Given the description of an element on the screen output the (x, y) to click on. 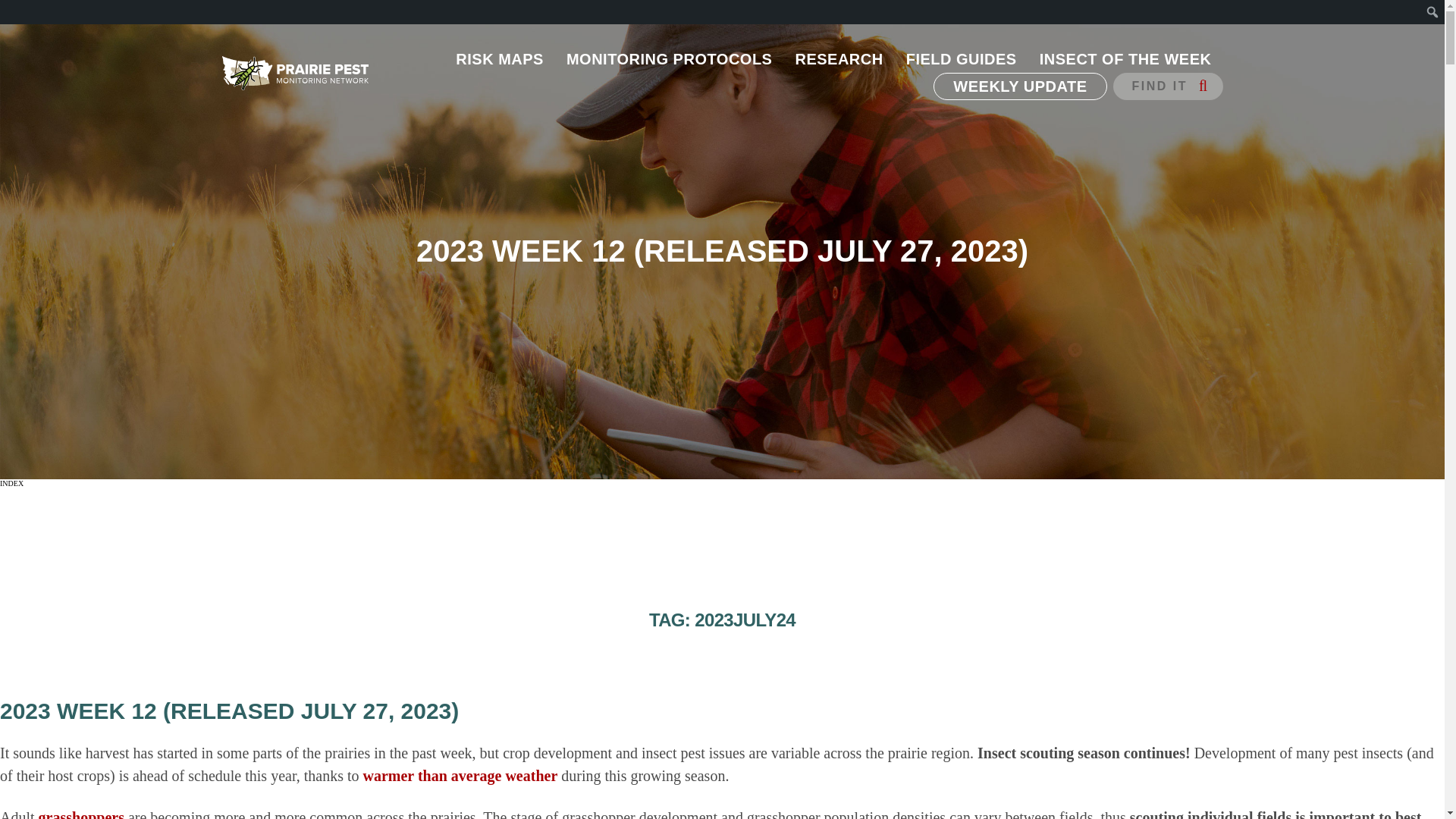
RESEARCH (838, 58)
Search (16, 13)
Search (21, 7)
RISK MAPS (499, 58)
WEEKLY UPDATE (1019, 85)
grasshoppers (81, 814)
MONITORING PROTOCOLS (669, 58)
FIELD GUIDES (961, 58)
INSECT OF THE WEEK (1125, 58)
warmer than average weather (459, 775)
